Given the description of an element on the screen output the (x, y) to click on. 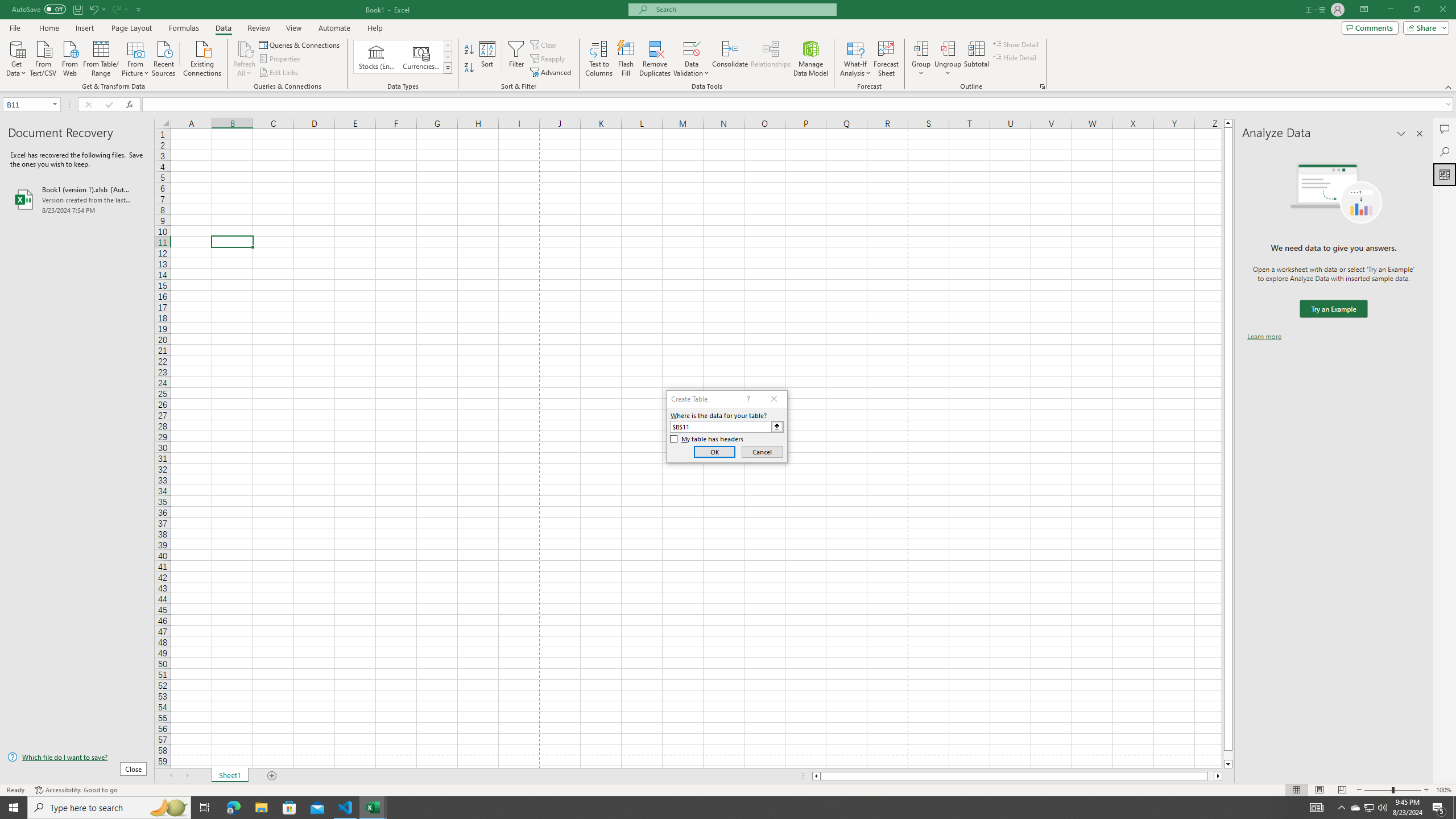
AutoSave (38, 9)
Data Validation... (691, 58)
Home (48, 28)
Currencies (English) (420, 56)
Row Down (448, 56)
Page Break Preview (1342, 790)
From Table/Range (100, 57)
From Text/CSV (43, 57)
Remove Duplicates (654, 58)
Queries & Connections (300, 44)
Data Types (448, 67)
Review (258, 28)
Data Validation... (691, 48)
